Given the description of an element on the screen output the (x, y) to click on. 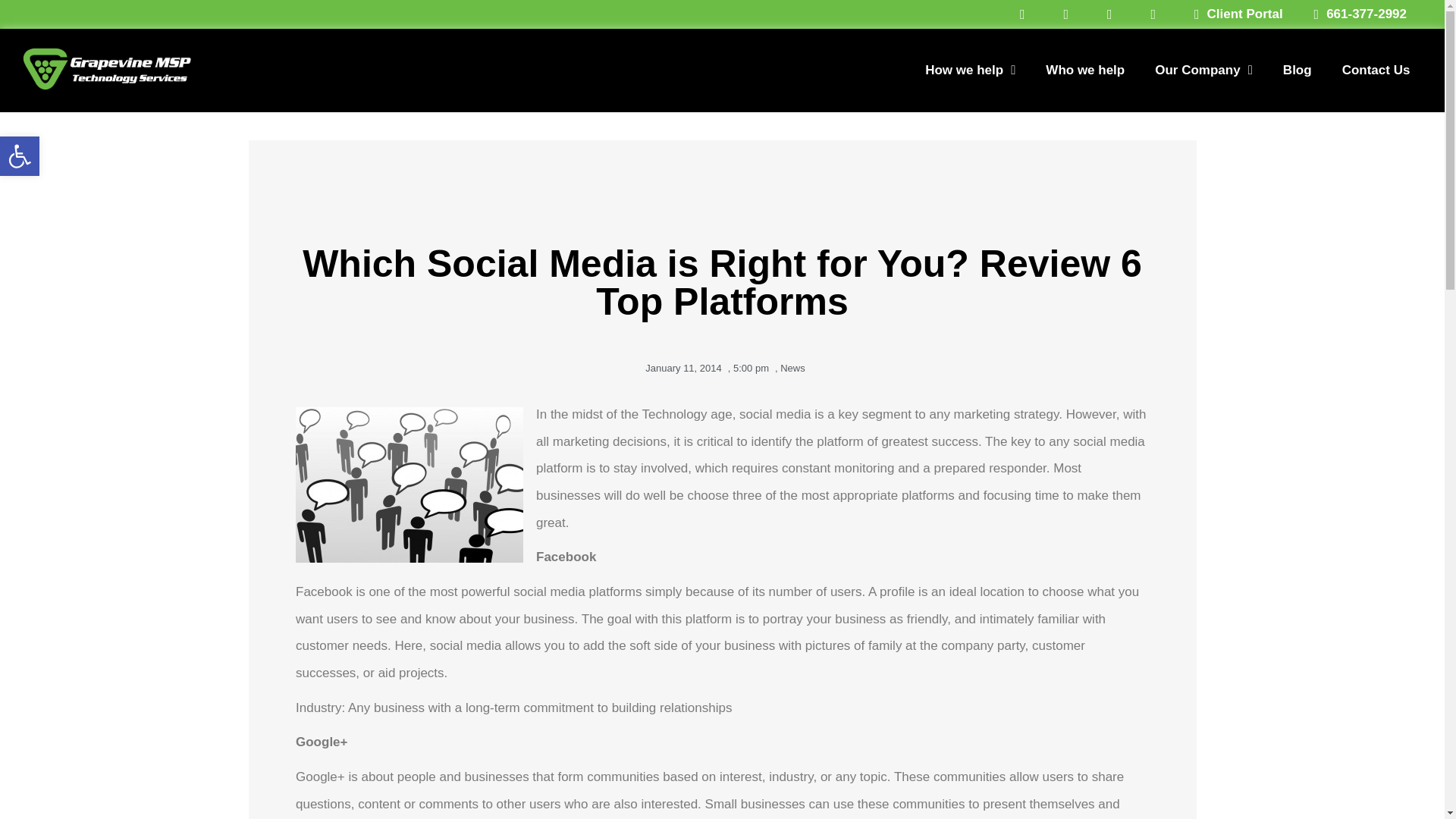
Client Portal (1232, 14)
Contact Us (1375, 70)
Accessibility Tools (19, 156)
Accessibility Tools (19, 156)
Our Company (1204, 70)
661-377-2992 (1353, 14)
Blog (1297, 70)
Who we help (1085, 70)
How we help (970, 70)
